Given the description of an element on the screen output the (x, y) to click on. 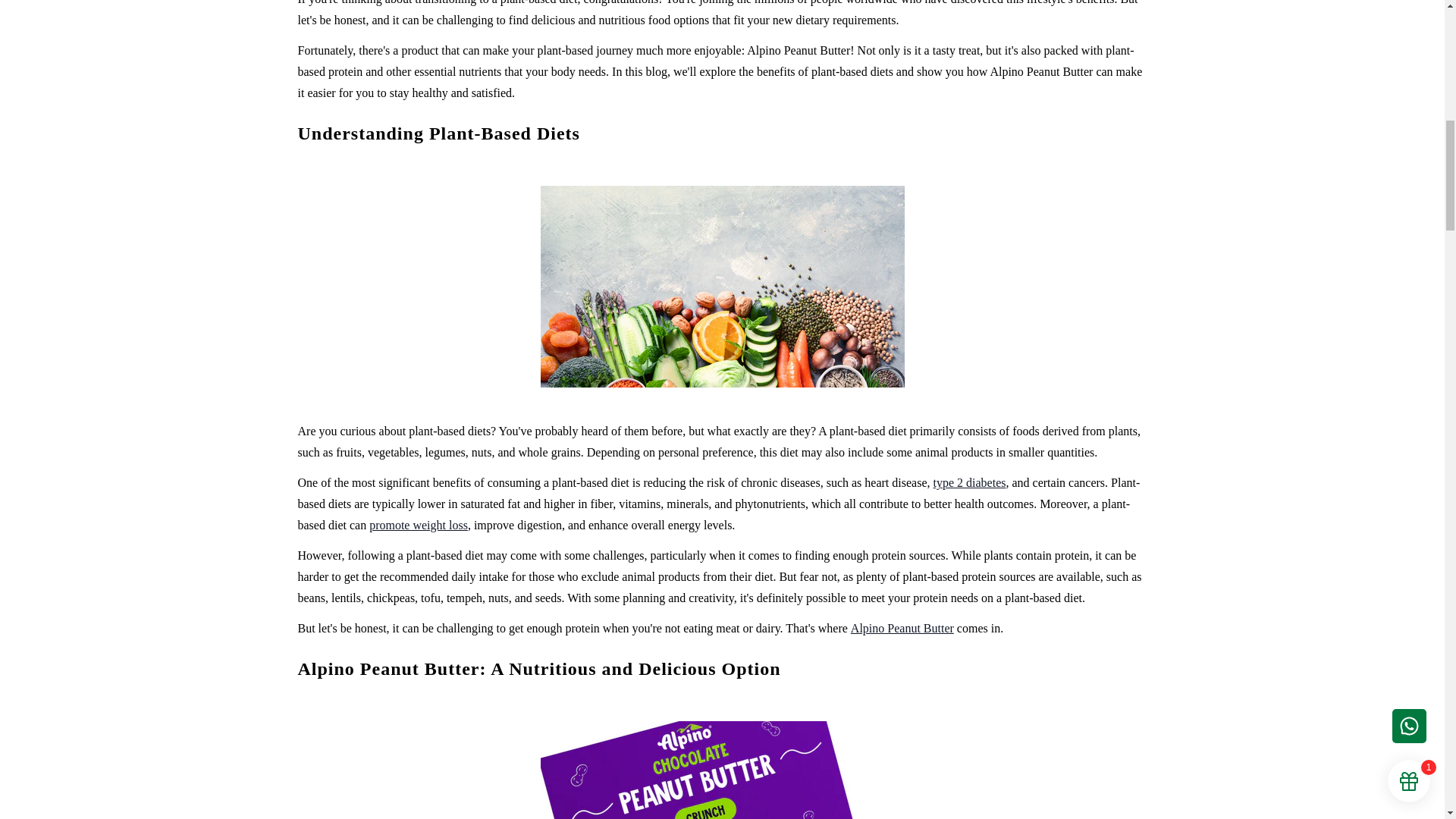
type 2 diabetes (969, 481)
promote weight loss (418, 524)
Alpino Peanut Butter (901, 627)
gb-frame (1403, 2)
